Given the description of an element on the screen output the (x, y) to click on. 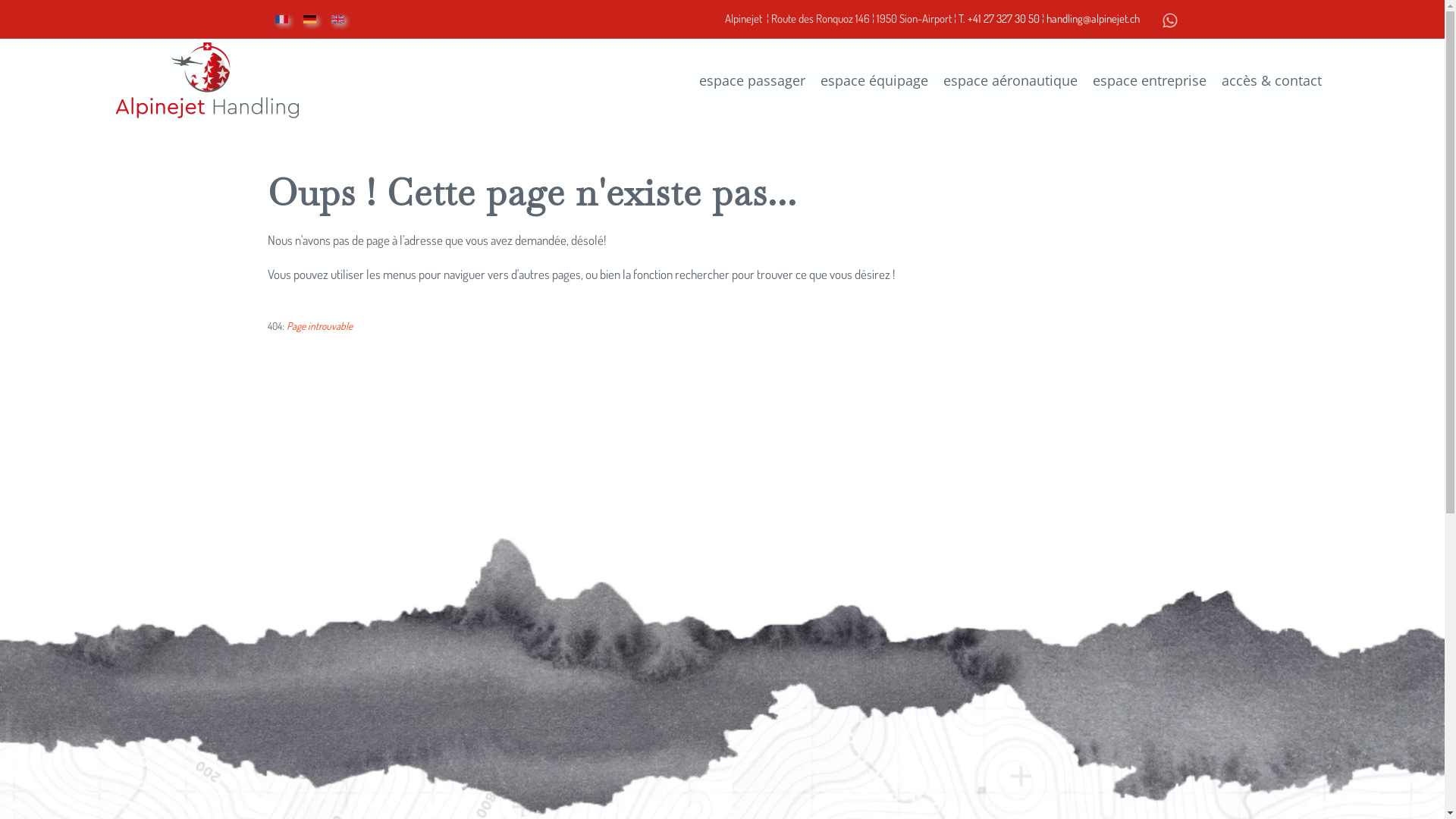
T. +41 27 327 30 50 Element type: text (998, 18)
handling@alpinejet.ch Element type: text (1092, 18)
espace entreprise Element type: text (1148, 80)
espace passager Element type: text (751, 80)
